Given the description of an element on the screen output the (x, y) to click on. 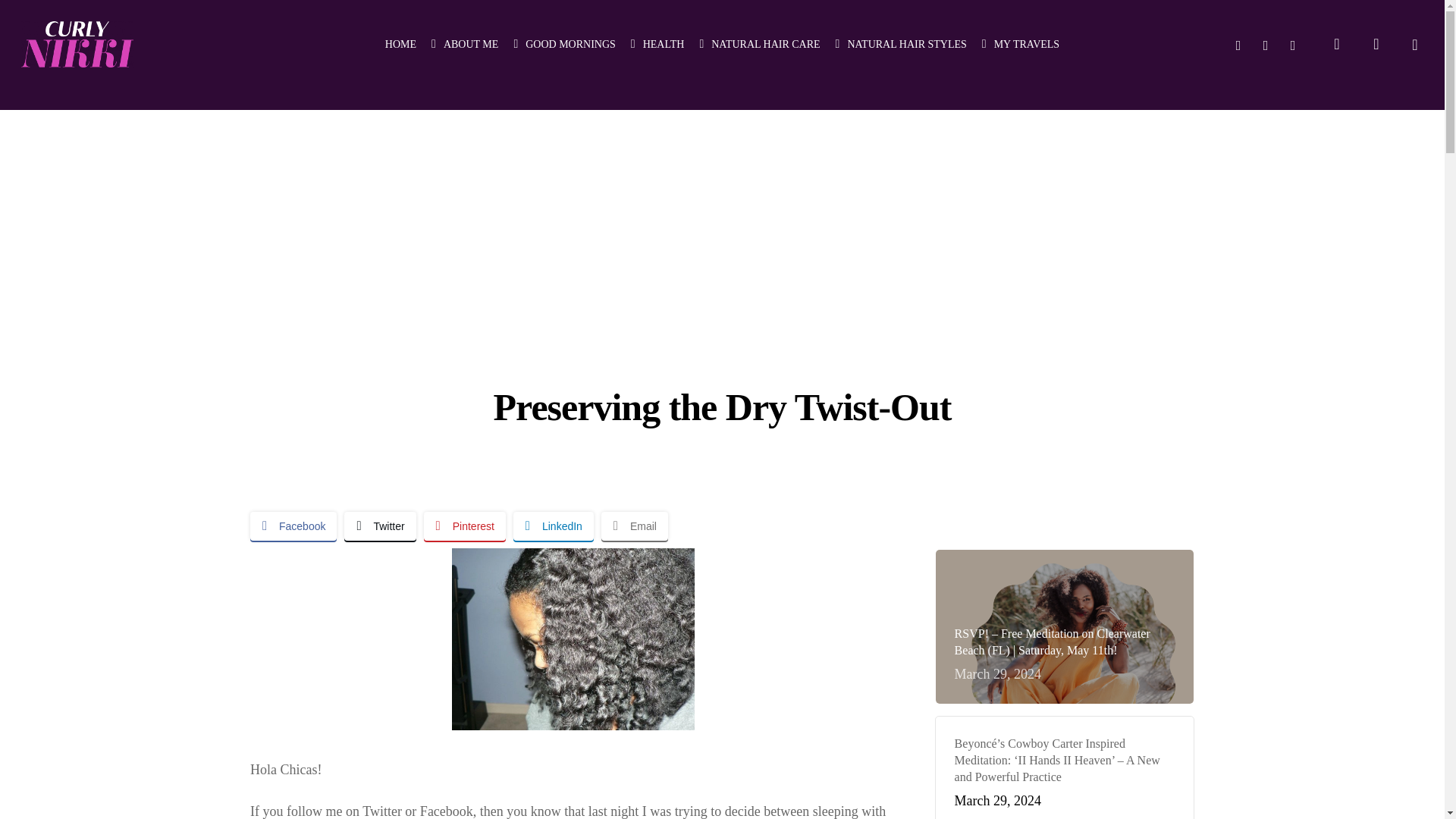
HEALTH (657, 44)
NATURAL HAIR STYLES (900, 44)
NATURAL HAIR CARE (758, 44)
GOOD MORNINGS (563, 44)
HOME (400, 44)
ABOUT ME (463, 44)
Preserving the Dry Twist-Out (572, 638)
